Given the description of an element on the screen output the (x, y) to click on. 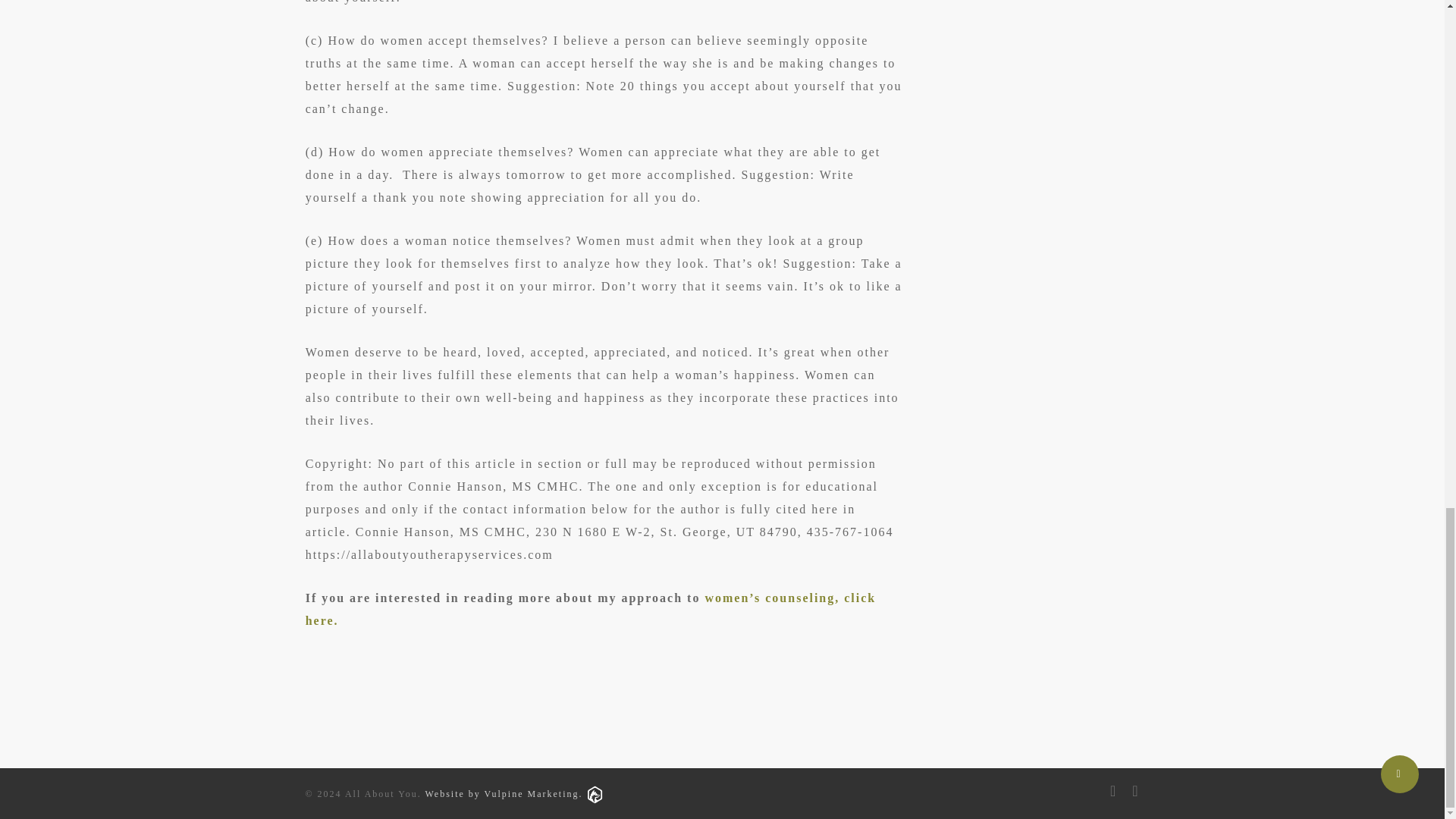
Website by Vulpine Marketing. (513, 793)
